Given the description of an element on the screen output the (x, y) to click on. 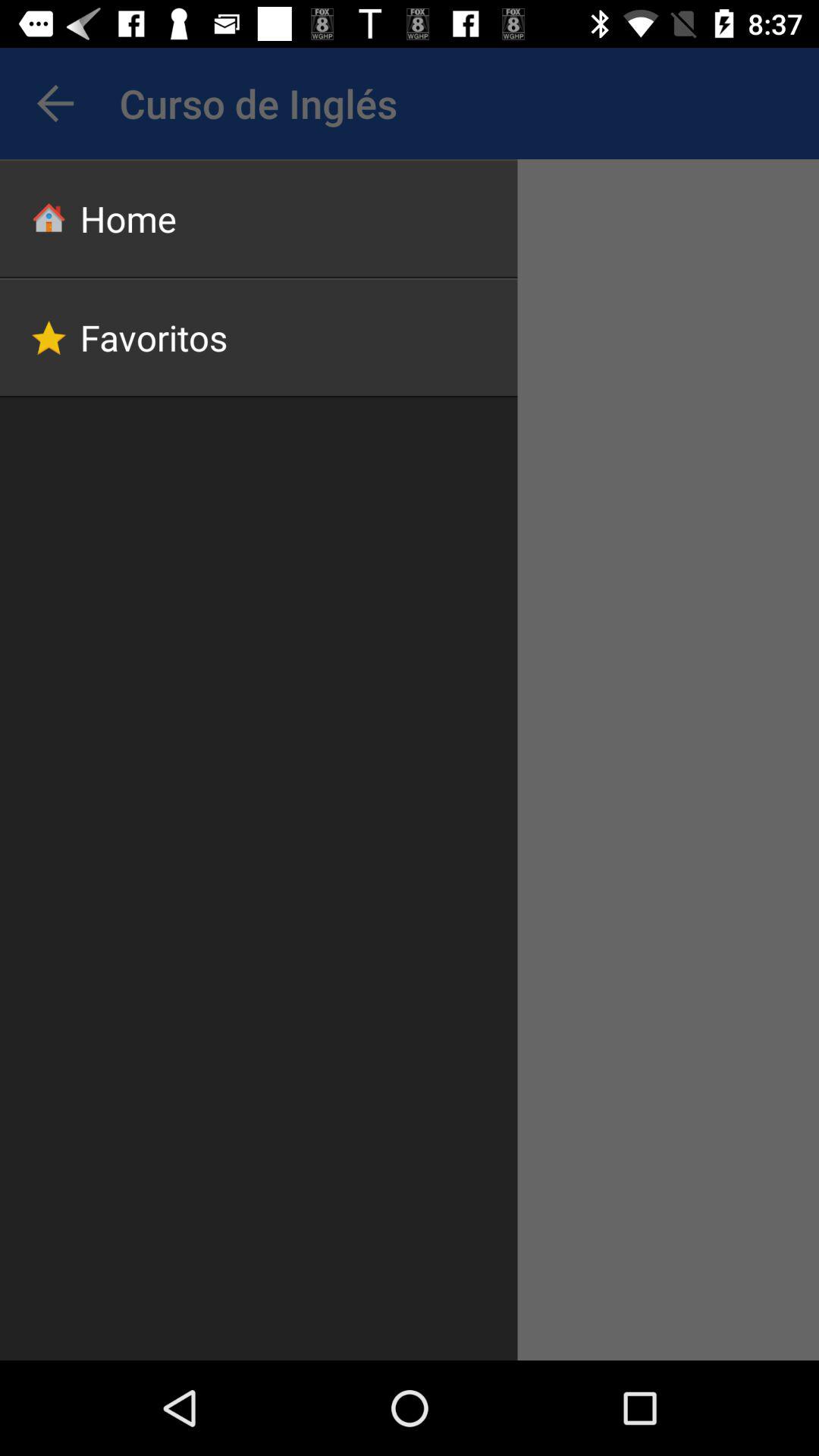
choose the icon above the home (55, 103)
